Given the description of an element on the screen output the (x, y) to click on. 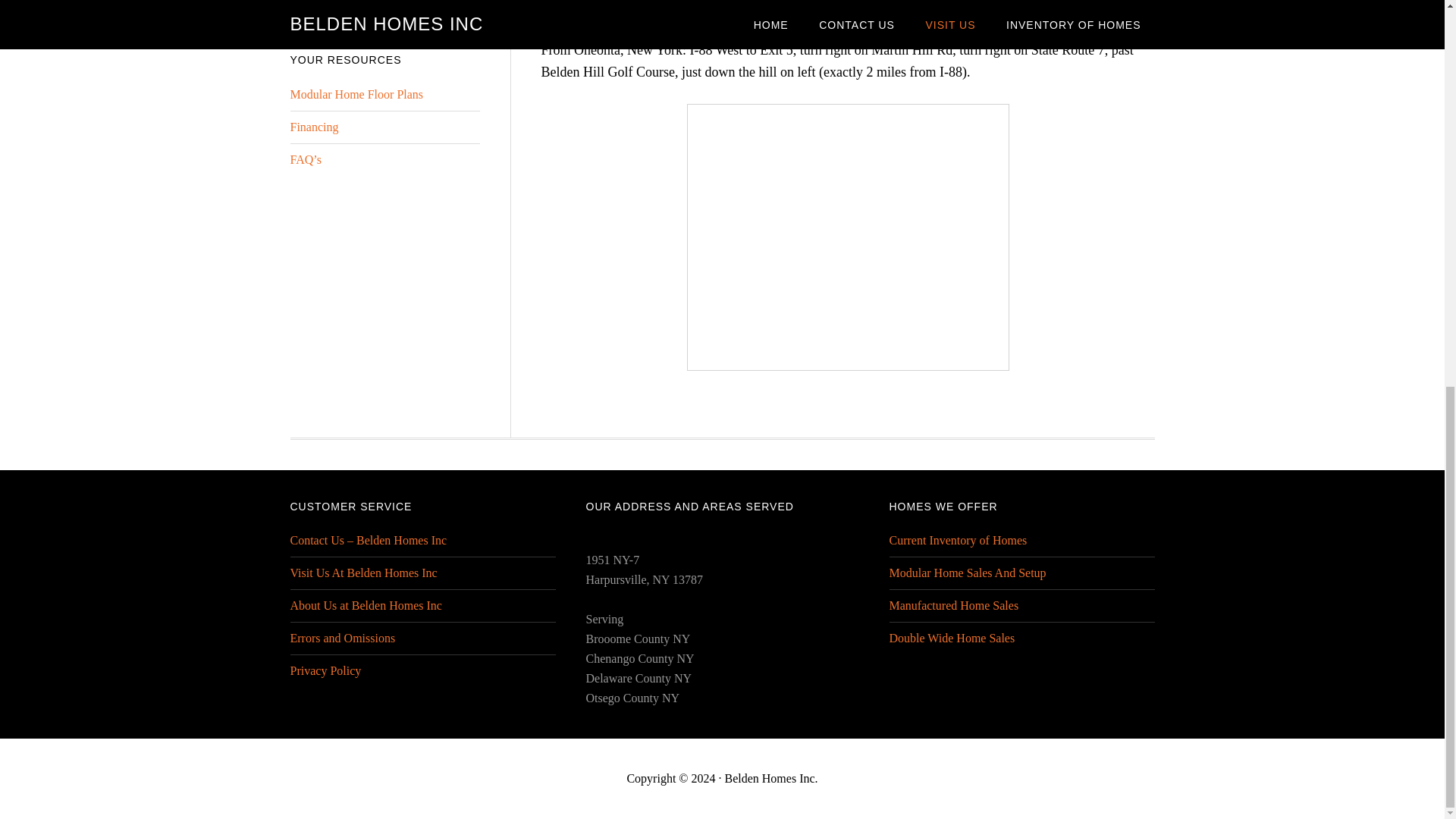
About Us at Belden Homes Inc (365, 604)
Privacy Policy (325, 670)
Modular Home Sales And Setup (966, 572)
Manufactured Home Sales (952, 604)
Modular Home Floor Plans (356, 93)
Current Inventory of Homes (957, 540)
Awards (307, 12)
Errors and Omissions (341, 637)
Financing (313, 126)
Belden Homes Inc. (769, 778)
